Given the description of an element on the screen output the (x, y) to click on. 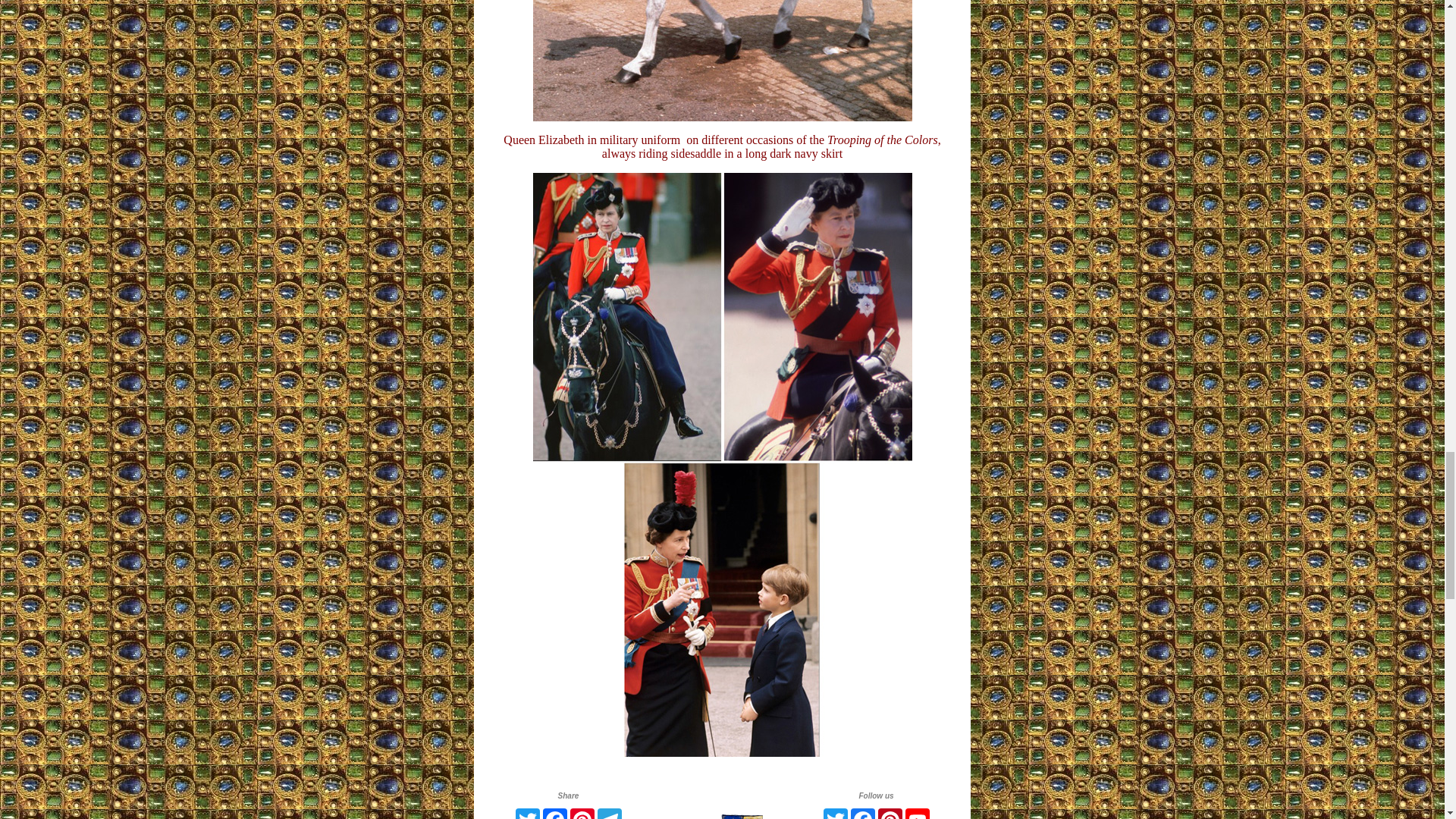
Twitter (835, 813)
Facebook (555, 813)
YouTube (917, 813)
Pinterest (890, 813)
Twitter (527, 813)
Telegram (609, 813)
Facebook (862, 813)
Pinterest (582, 813)
